Given the description of an element on the screen output the (x, y) to click on. 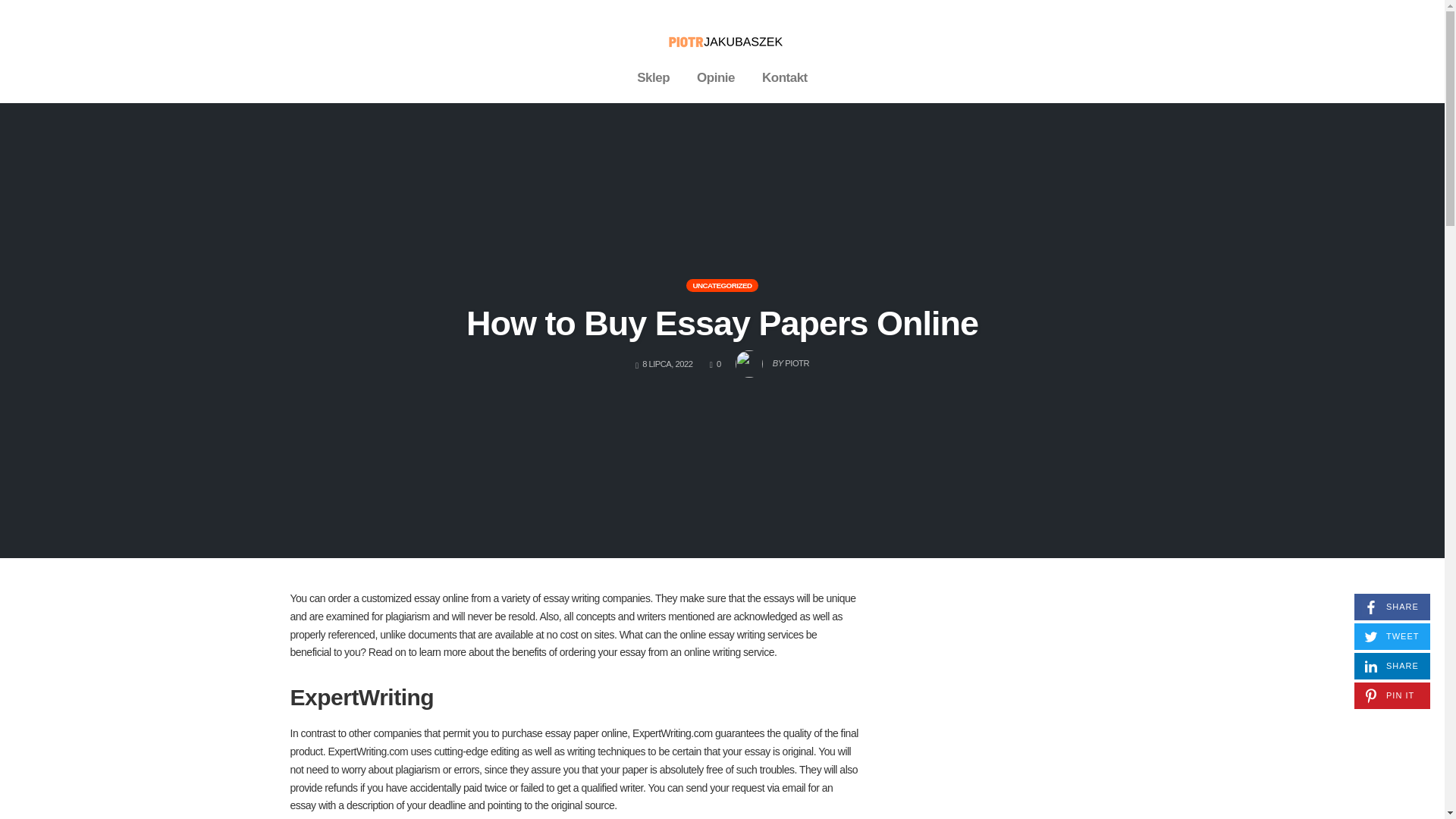
Opinie (1391, 665)
UNCATEGORIZED (715, 77)
BY PIOTR (721, 285)
How to Buy Essay Papers Online (772, 359)
Kontakt (721, 323)
Sklep (1391, 606)
